Given the description of an element on the screen output the (x, y) to click on. 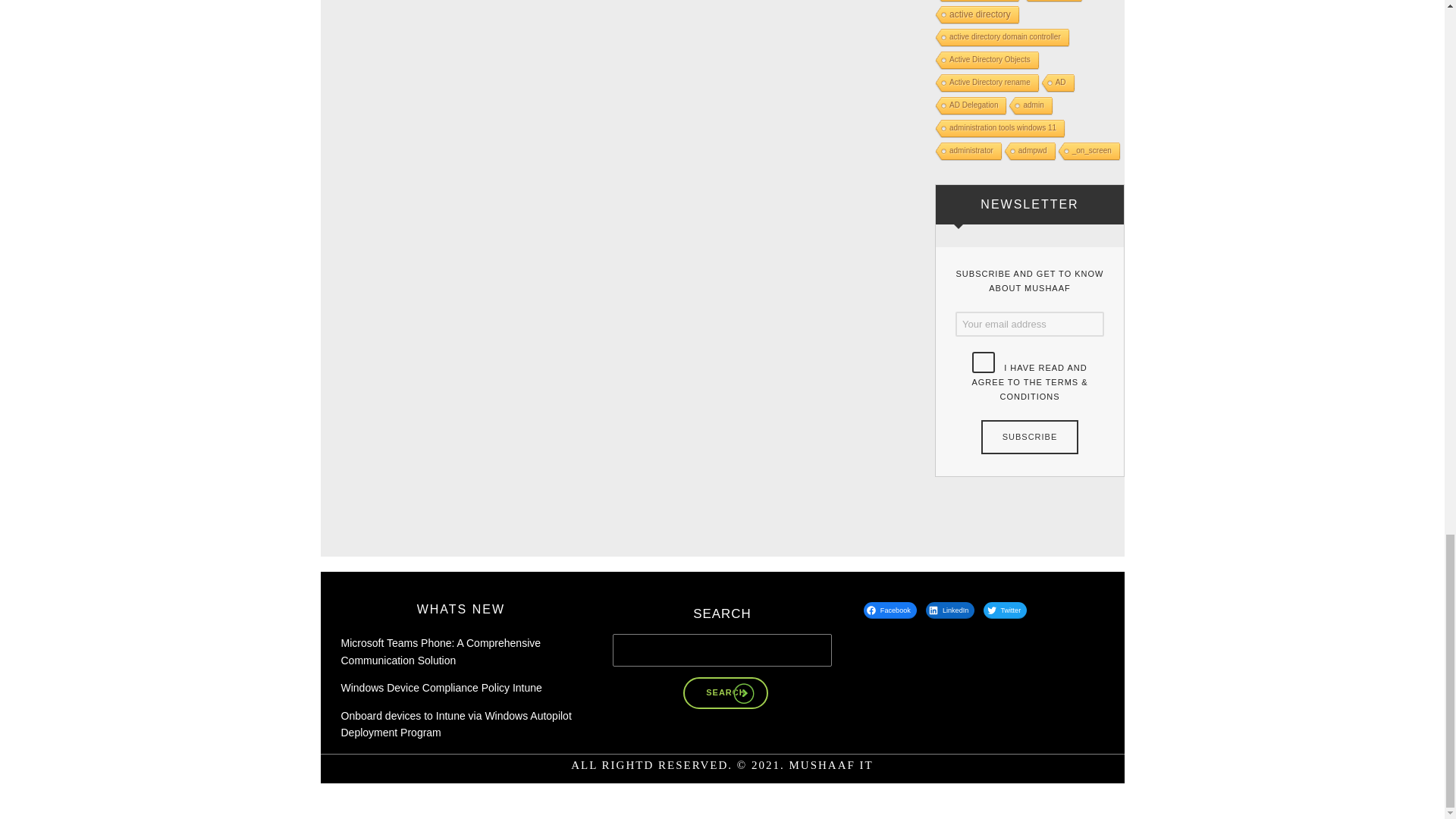
1 (983, 362)
Subscribe (1028, 436)
